Given the description of an element on the screen output the (x, y) to click on. 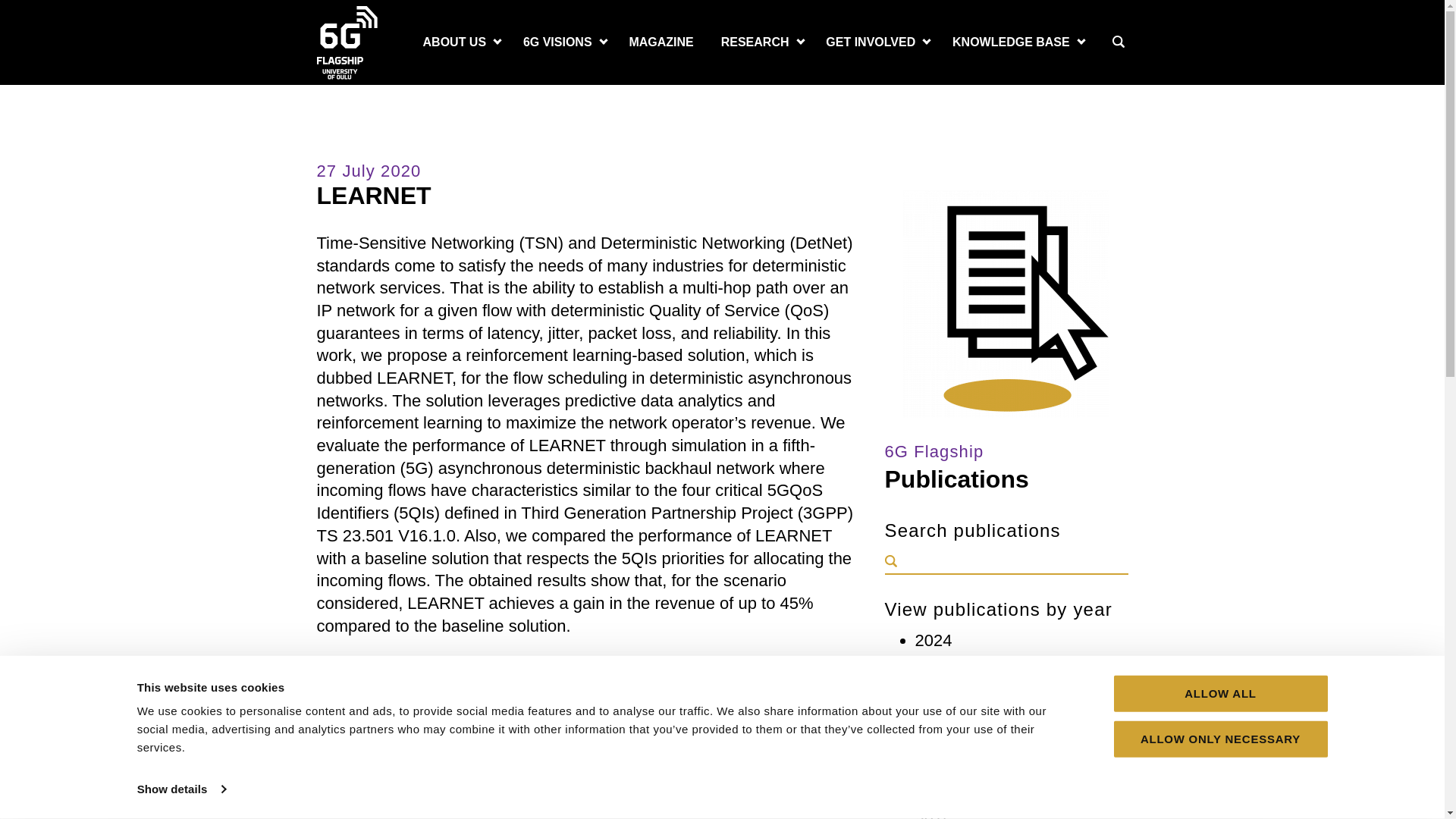
Show details (180, 789)
ALLOW ONLY NECESSARY (1219, 738)
ALLOW ALL (1219, 693)
